Given the description of an element on the screen output the (x, y) to click on. 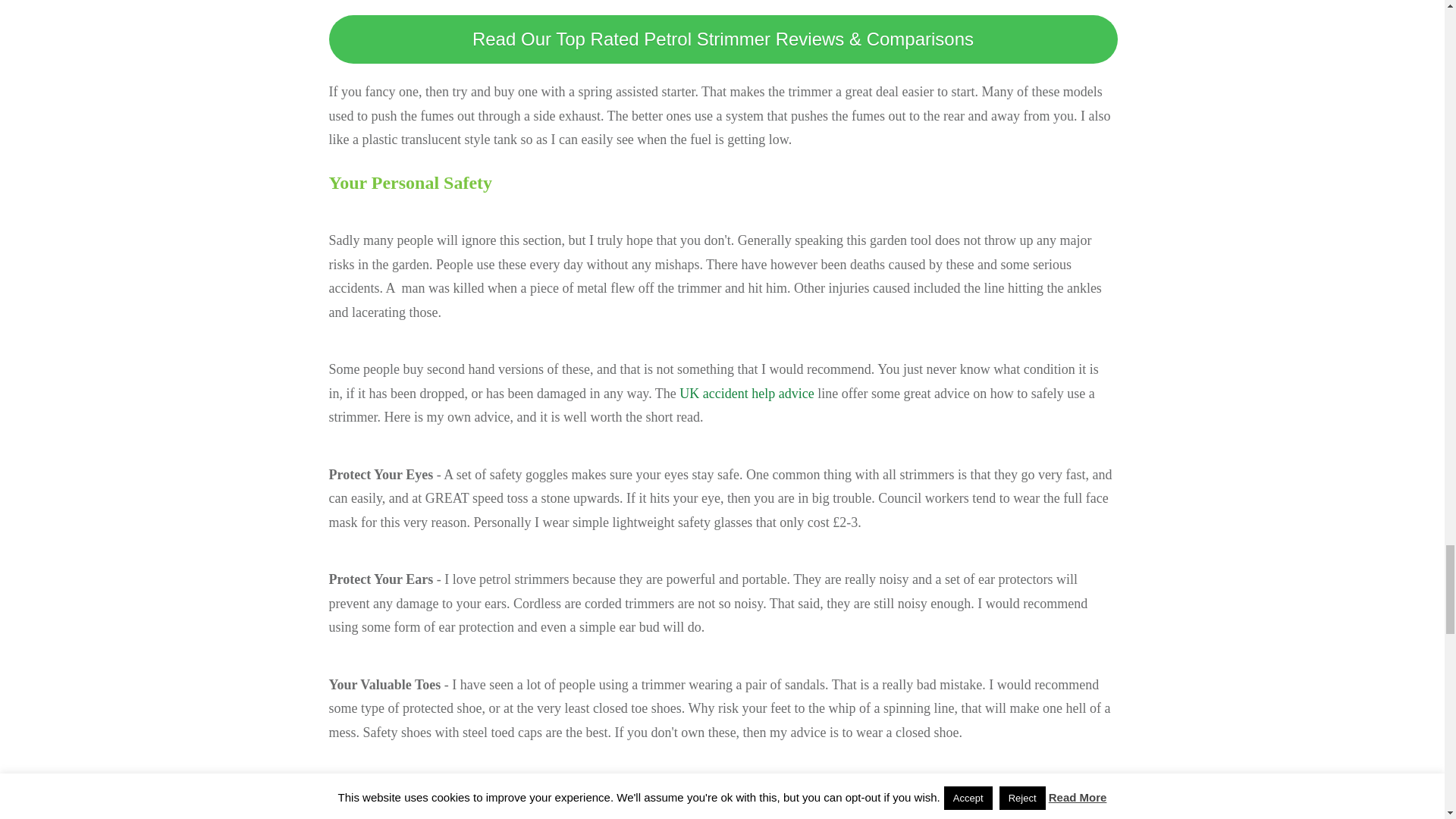
UK accident help advice (746, 393)
